Given the description of an element on the screen output the (x, y) to click on. 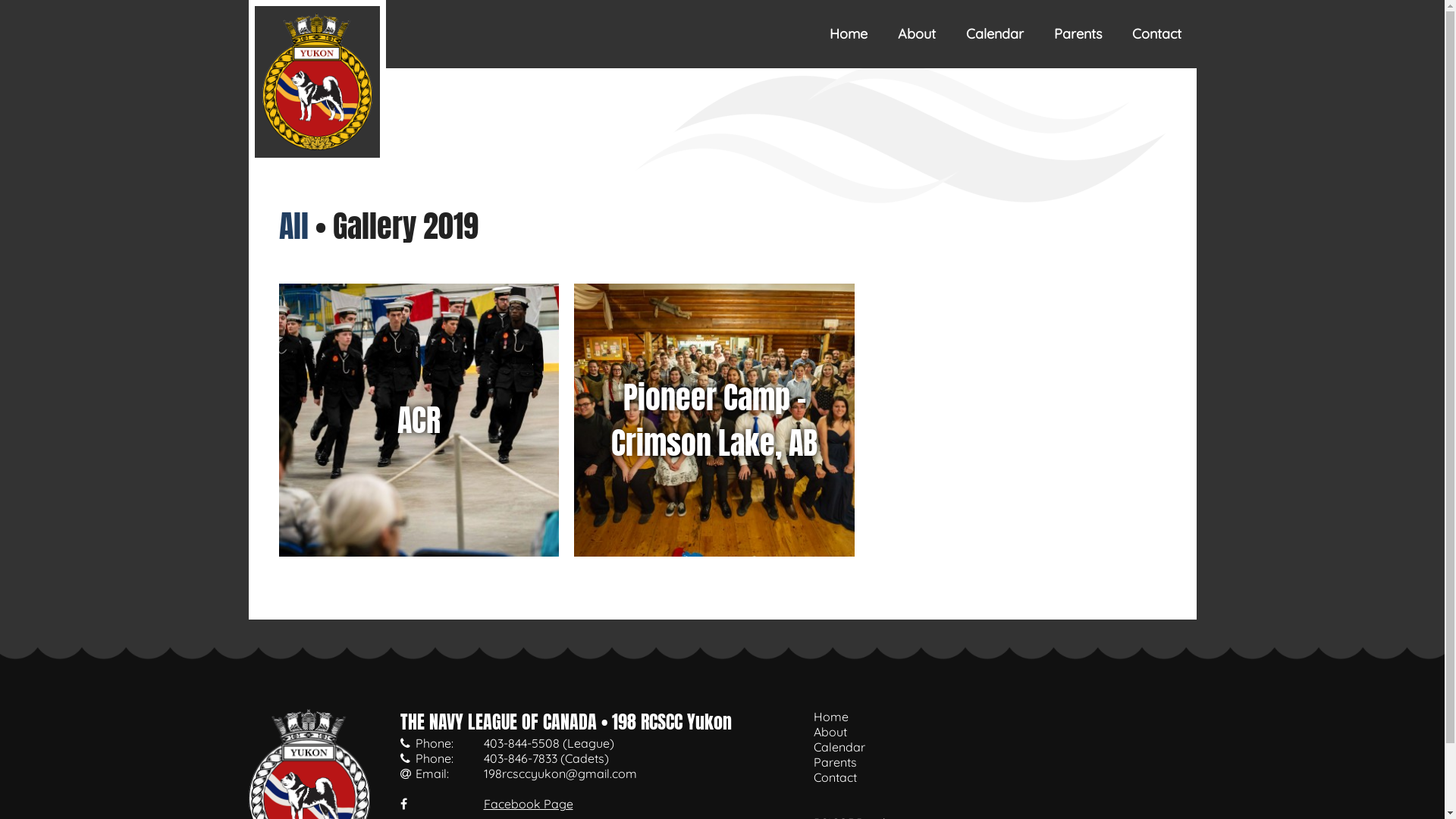
About Element type: text (916, 34)
Facebook Page Element type: text (528, 803)
Home Element type: text (848, 34)
About Element type: text (829, 731)
Home Element type: text (829, 716)
Parents Element type: text (1077, 34)
Calendar Element type: text (838, 746)
Contact Element type: text (1155, 34)
198rcsccyukon@gmail.com Element type: text (560, 773)
All Element type: text (293, 225)
Parents Element type: text (834, 761)
Calendar Element type: text (994, 34)
Contact Element type: text (834, 776)
